Given the description of an element on the screen output the (x, y) to click on. 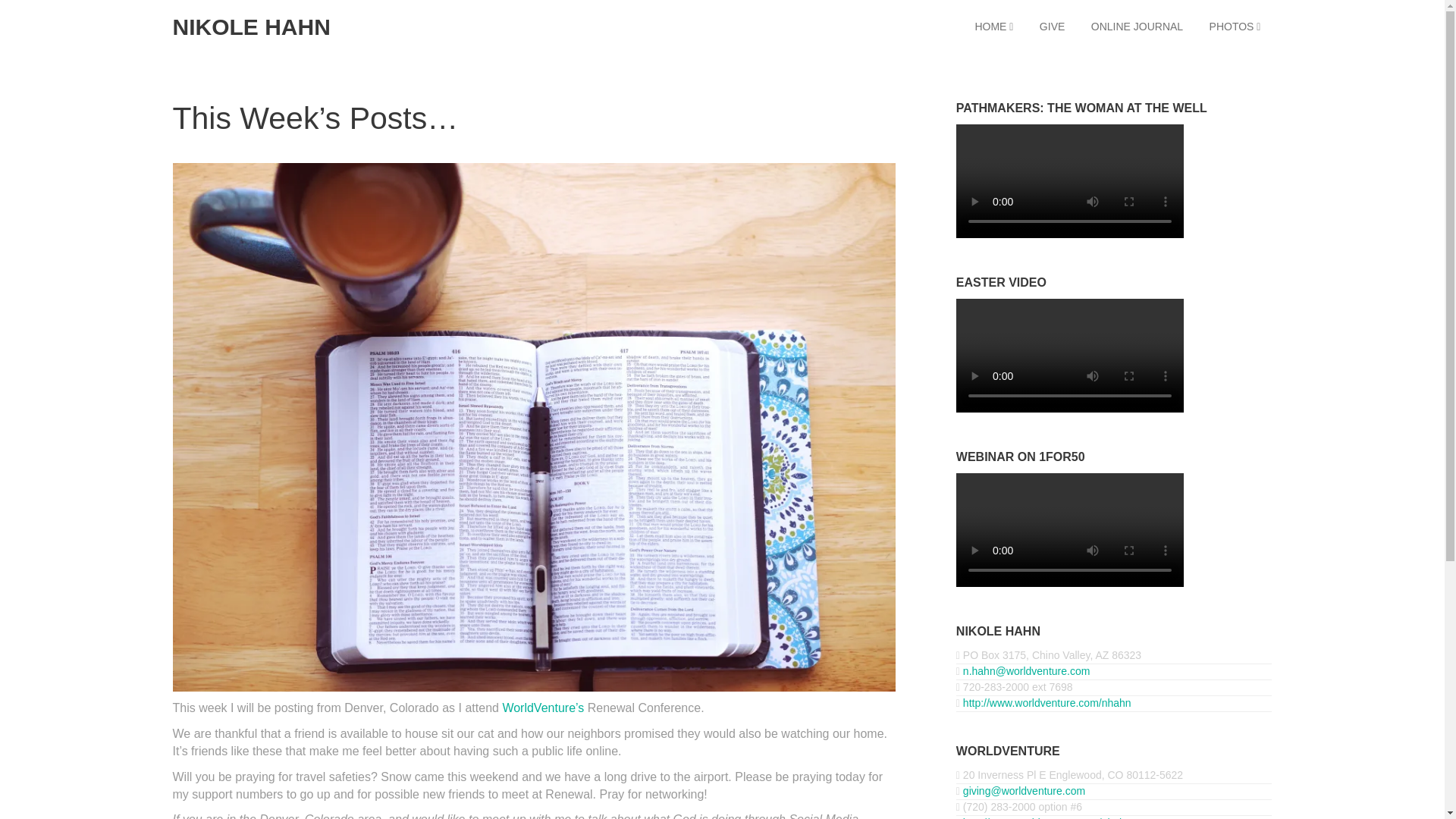
Online Journal (1136, 27)
ONLINE JOURNAL (1136, 27)
HOME (993, 27)
Home (993, 27)
Give (1051, 27)
PHOTOS (1235, 27)
NIKOLE HAHN (251, 26)
GIVE (1051, 27)
Photos (1235, 27)
